Given the description of an element on the screen output the (x, y) to click on. 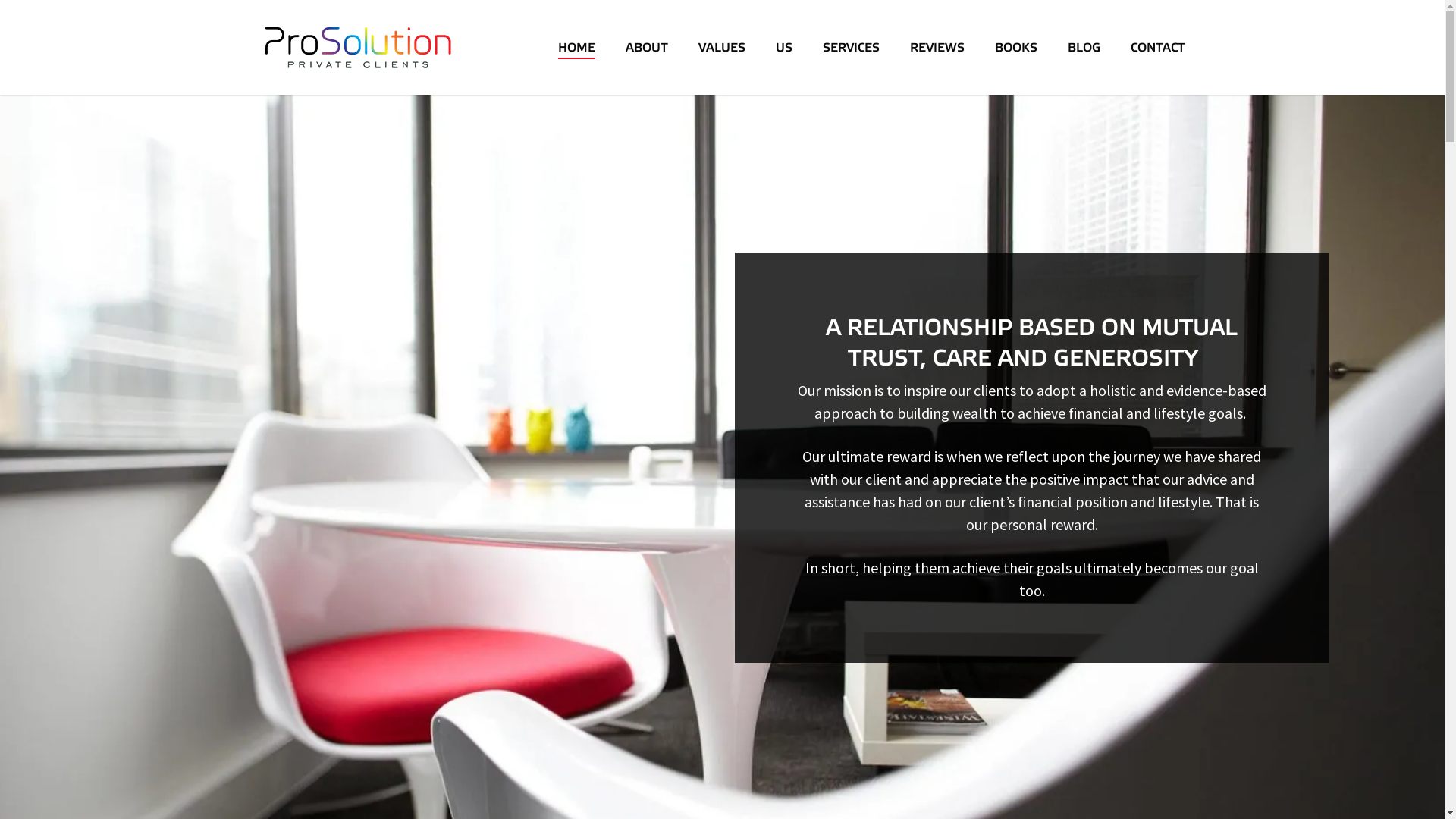
CONTACT Element type: text (1156, 46)
REVIEWS Element type: text (937, 46)
ABOUT Element type: text (645, 46)
BLOG Element type: text (1083, 46)
BOOKS Element type: text (1015, 46)
HOME Element type: text (576, 46)
SERVICES Element type: text (850, 46)
US Element type: text (783, 46)
VALUES Element type: text (720, 46)
